Given the description of an element on the screen output the (x, y) to click on. 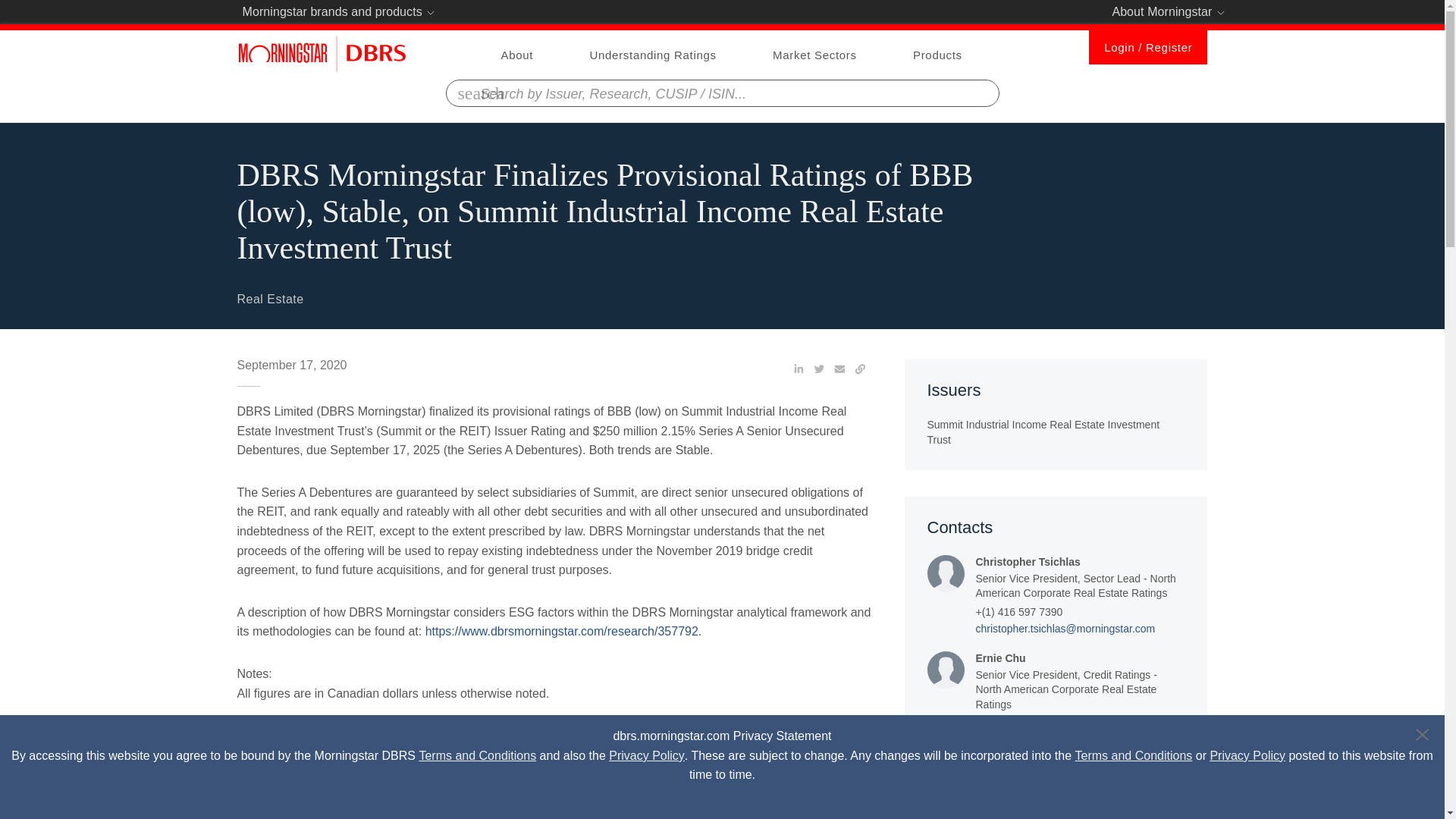
Issuers (1055, 414)
